Given the description of an element on the screen output the (x, y) to click on. 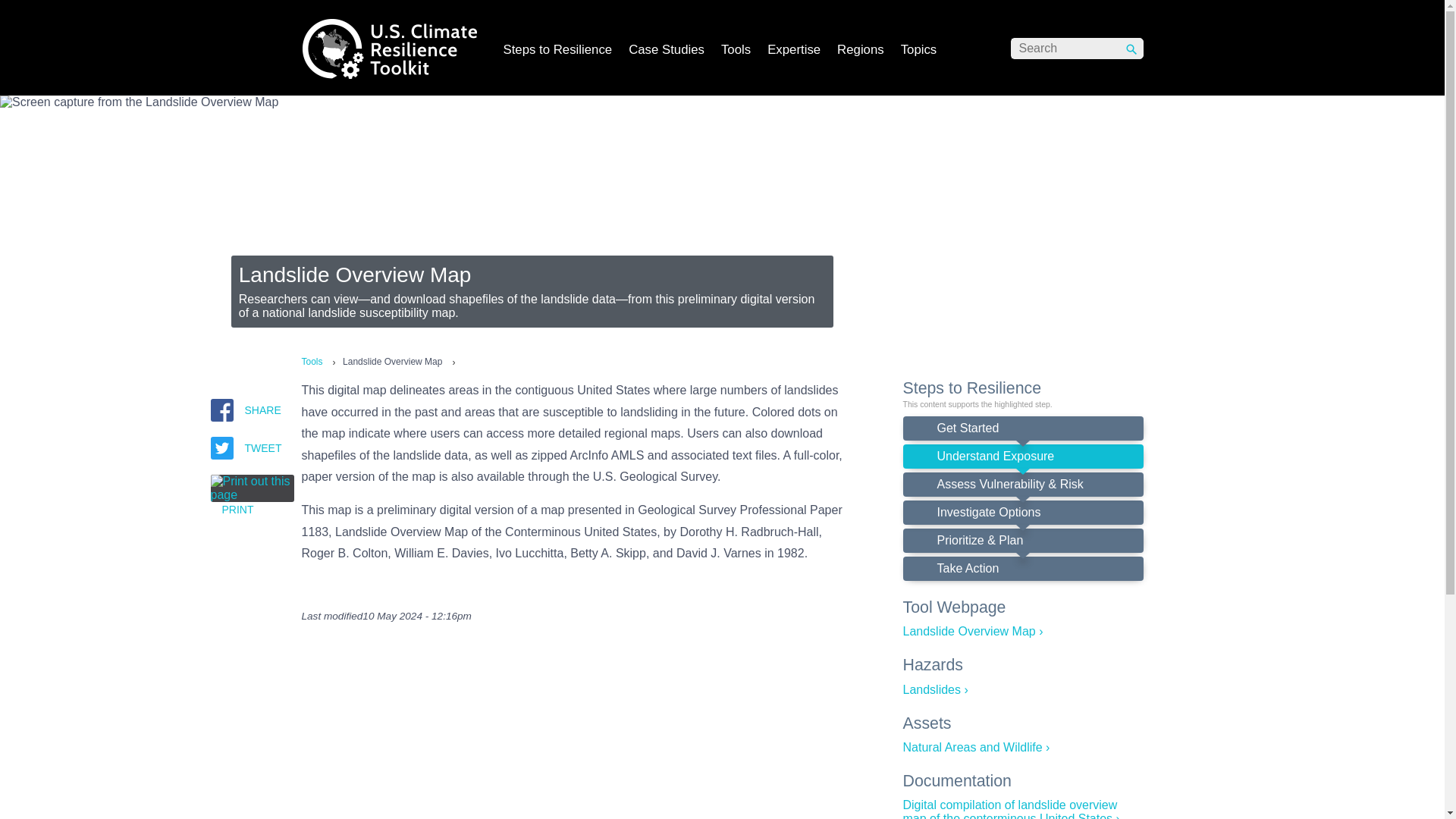
Topics (918, 51)
Case Studies (666, 51)
Tools (312, 361)
Investigate Options (1022, 512)
PRINT (252, 495)
Understand Exposure (1022, 456)
Landslide Overview Map (972, 631)
Regions (860, 51)
Take Action (1022, 568)
